Given the description of an element on the screen output the (x, y) to click on. 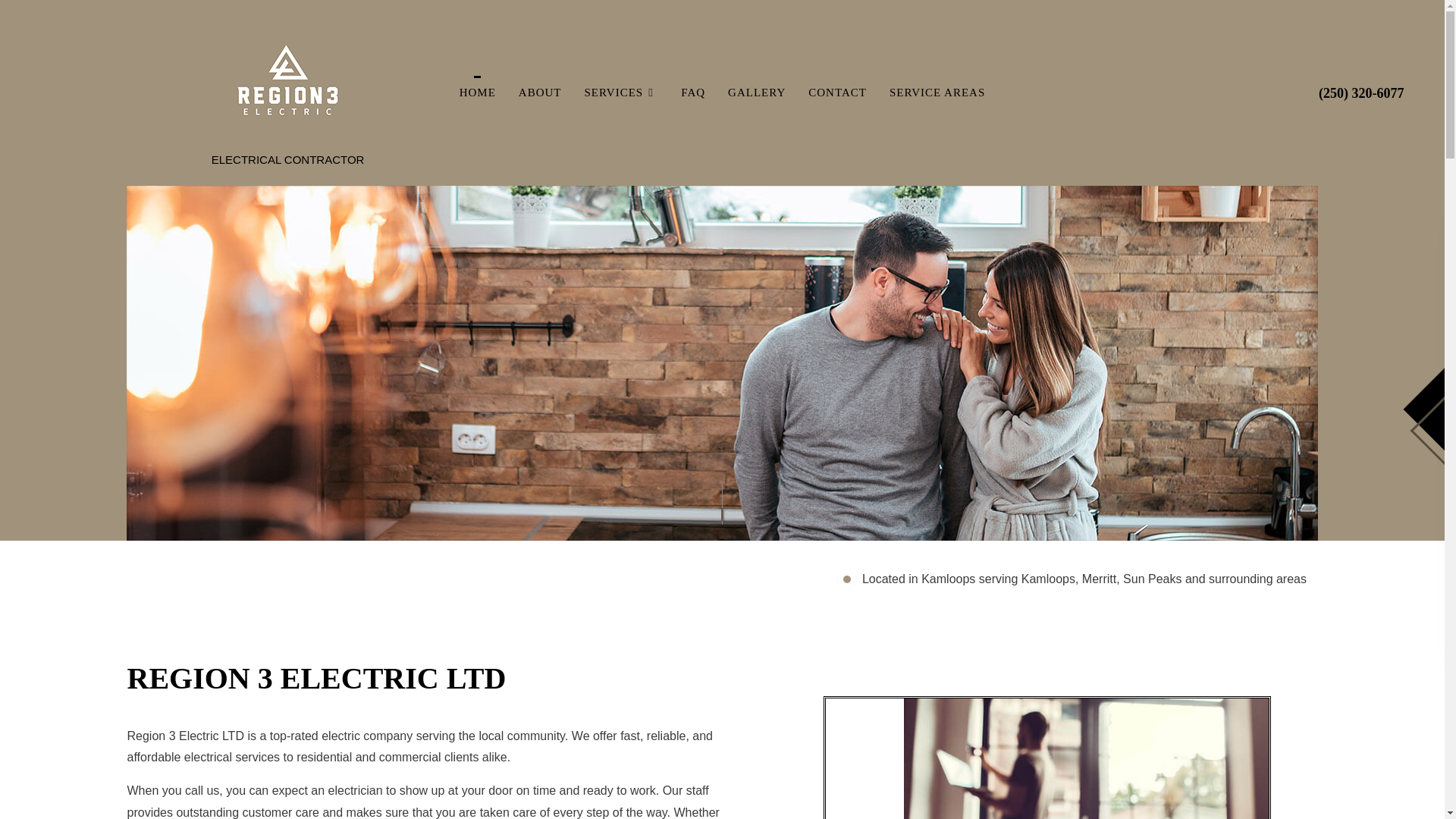
ELECTRICIAN (706, 226)
SERVICES (621, 92)
ELECTRICAL INSPECTION (706, 173)
HOME (477, 92)
ELECTRICAL CONTRACTOR (501, 173)
COMMERCIAL ELECTRICIAN (706, 147)
ELECTRICAL PANEL UPGRADES (501, 200)
ELECTRICAL REPAIRS (706, 200)
CEILING FAN INSTALLATION (501, 147)
ABOUT (539, 92)
ELECTRICAL WIRING (501, 226)
